Given the description of an element on the screen output the (x, y) to click on. 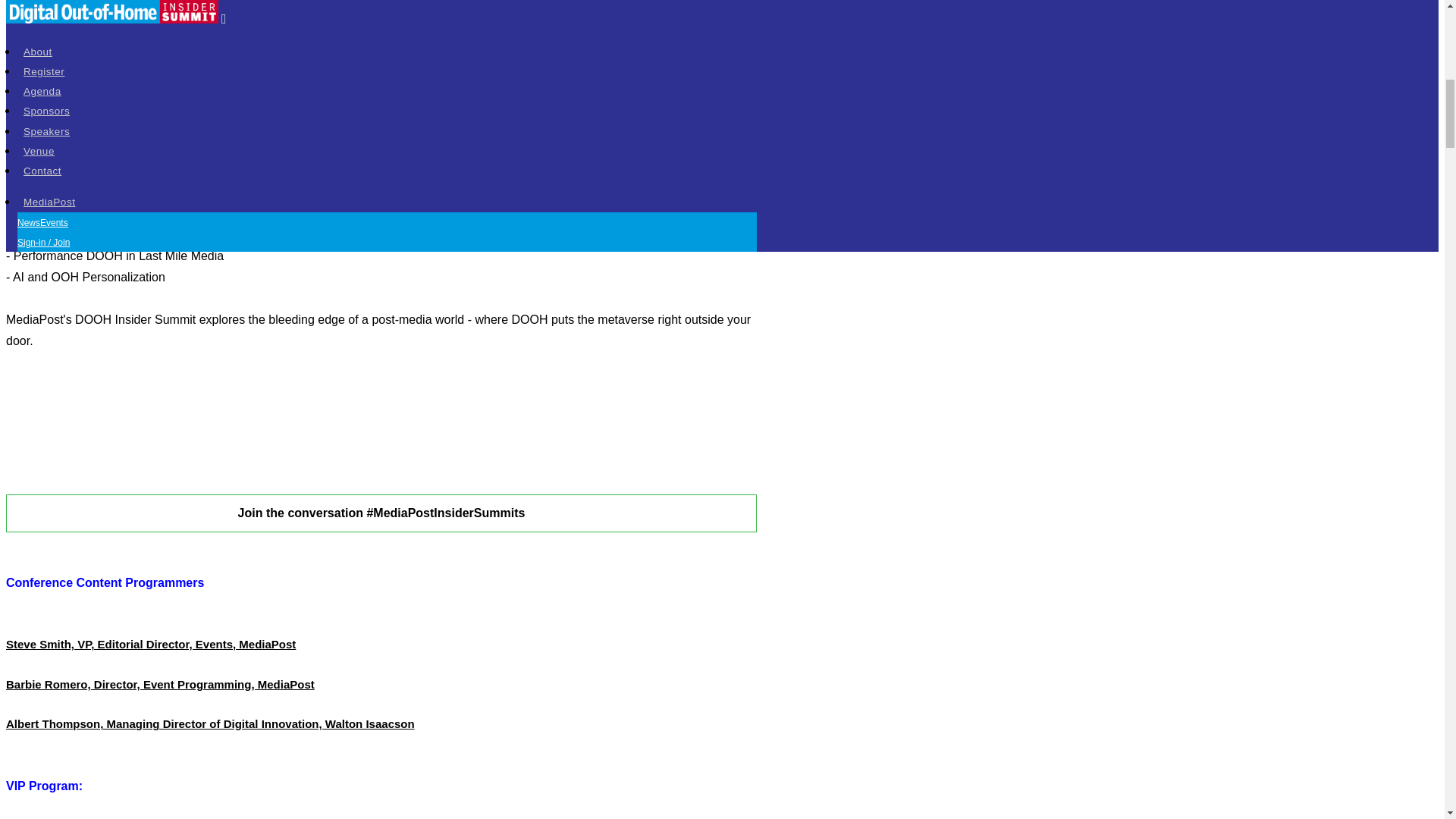
Steve Smith, VP, Editorial Director, Events, MediaPost (150, 644)
Barbie Romero, Director, Event Programming, MediaPost (159, 684)
